Given the description of an element on the screen output the (x, y) to click on. 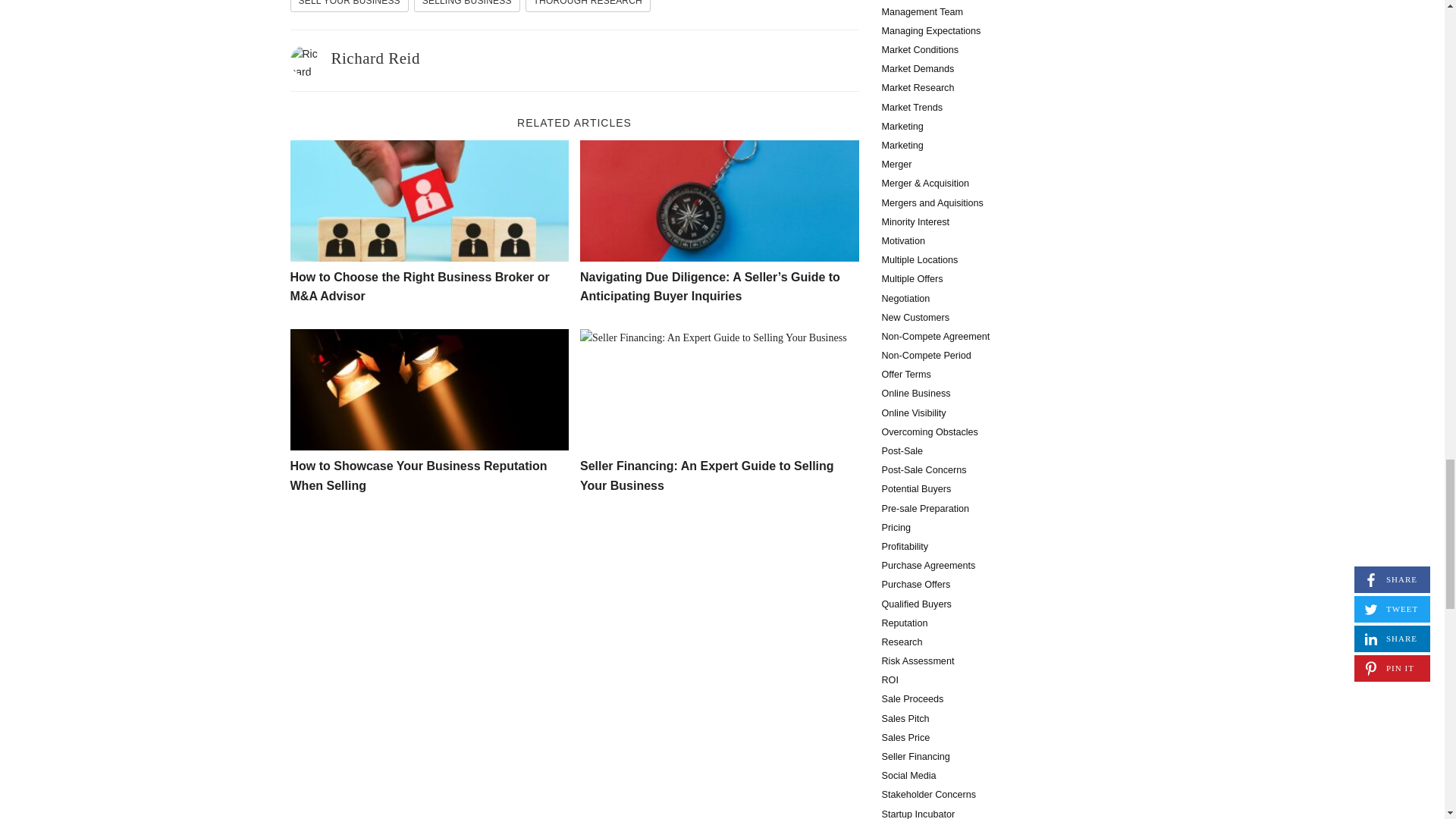
Richard Reid (374, 58)
SELL YOUR BUSINESS (348, 6)
SELLING BUSINESS (466, 6)
THOROUGH RESEARCH (587, 6)
How to Showcase Your Business Reputation When Selling (429, 389)
